Given the description of an element on the screen output the (x, y) to click on. 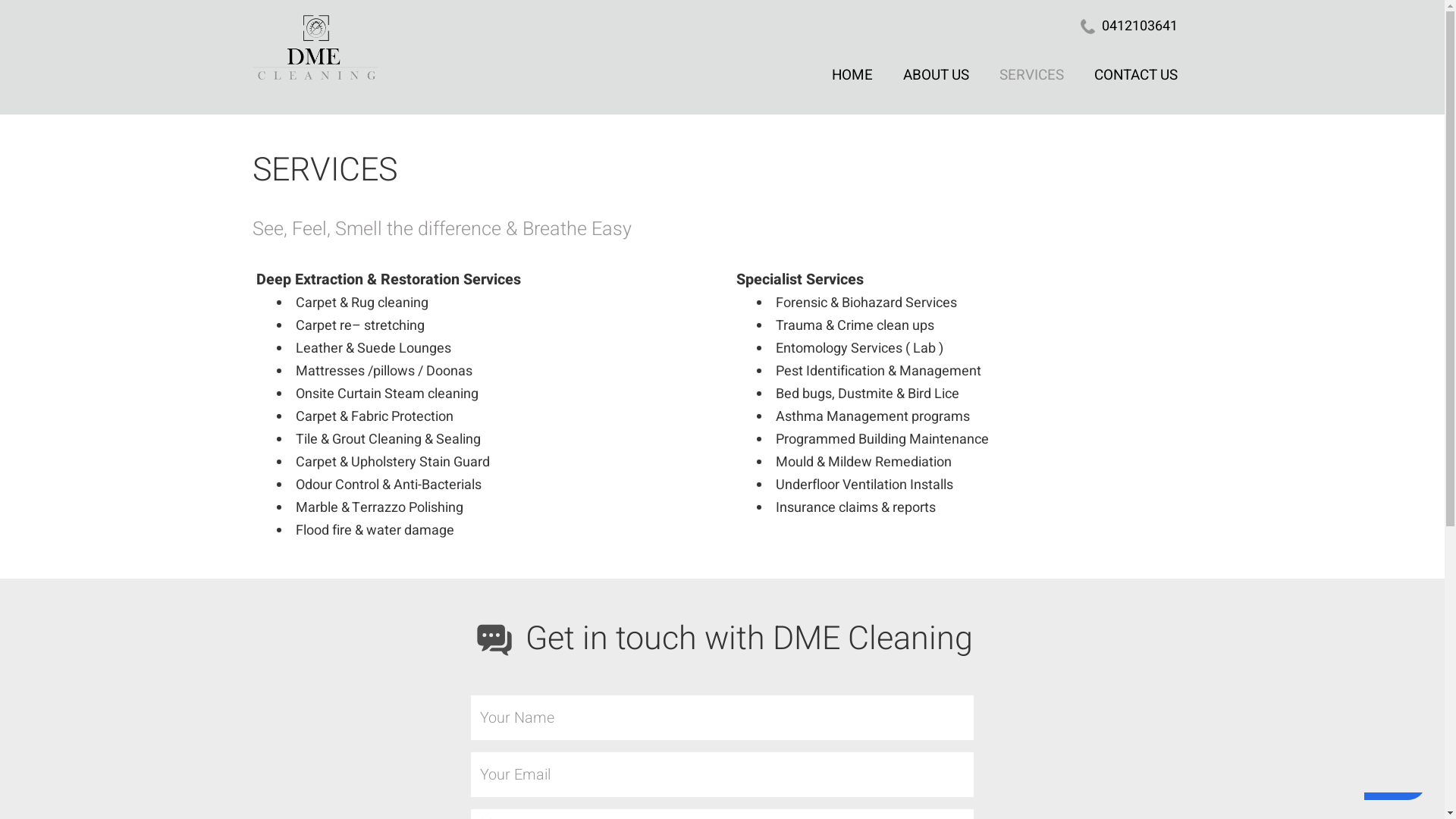
0412103641 Element type: text (1138, 25)
SERVICES Element type: text (1031, 73)
Home Element type: hover (533, 51)
CONTACT US Element type: text (1135, 73)
ABOUT US Element type: text (935, 73)
HOME Element type: text (851, 73)
Skip to main content Element type: text (0, 0)
